Given the description of an element on the screen output the (x, y) to click on. 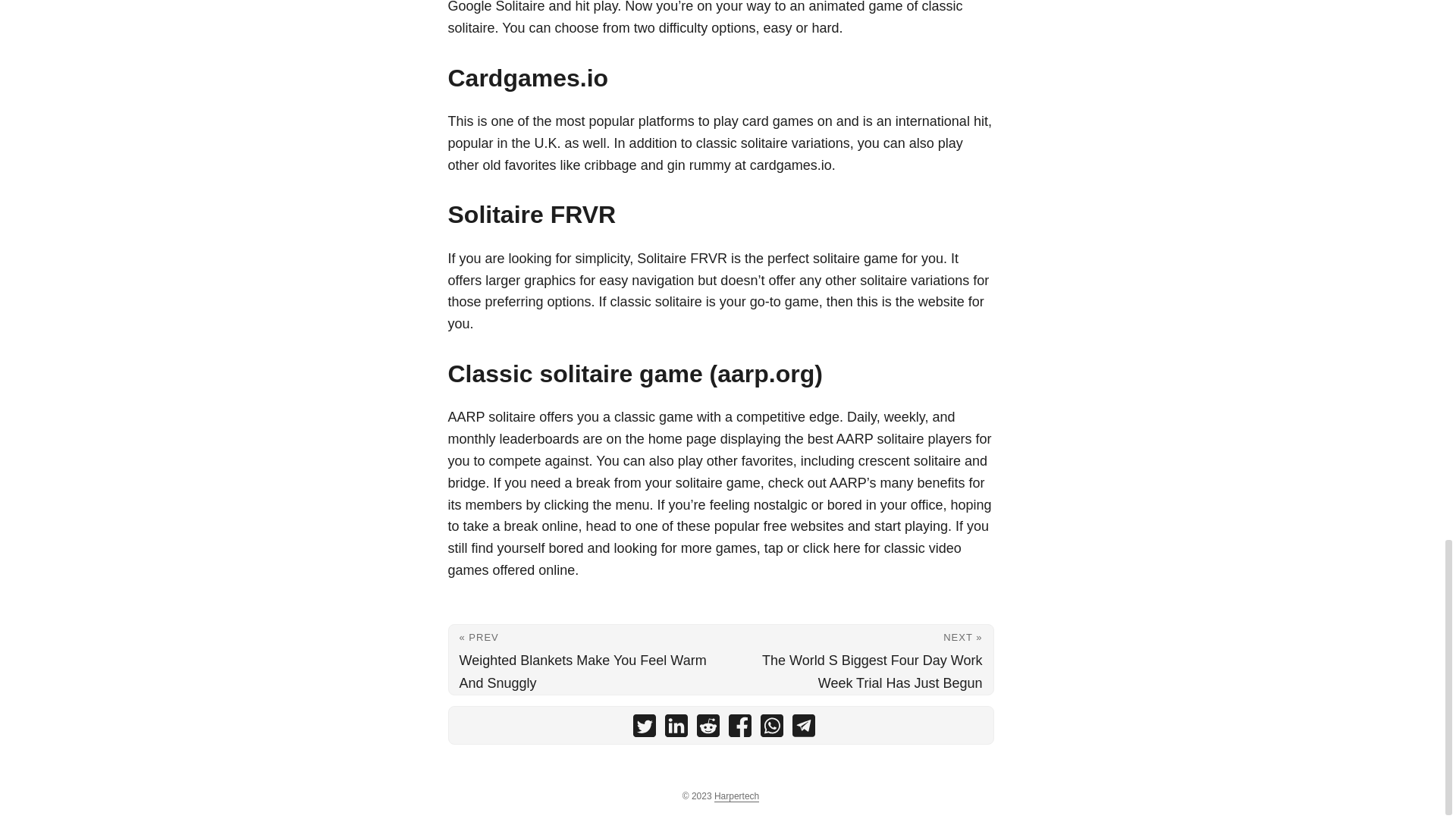
Harpertech (736, 796)
